Given the description of an element on the screen output the (x, y) to click on. 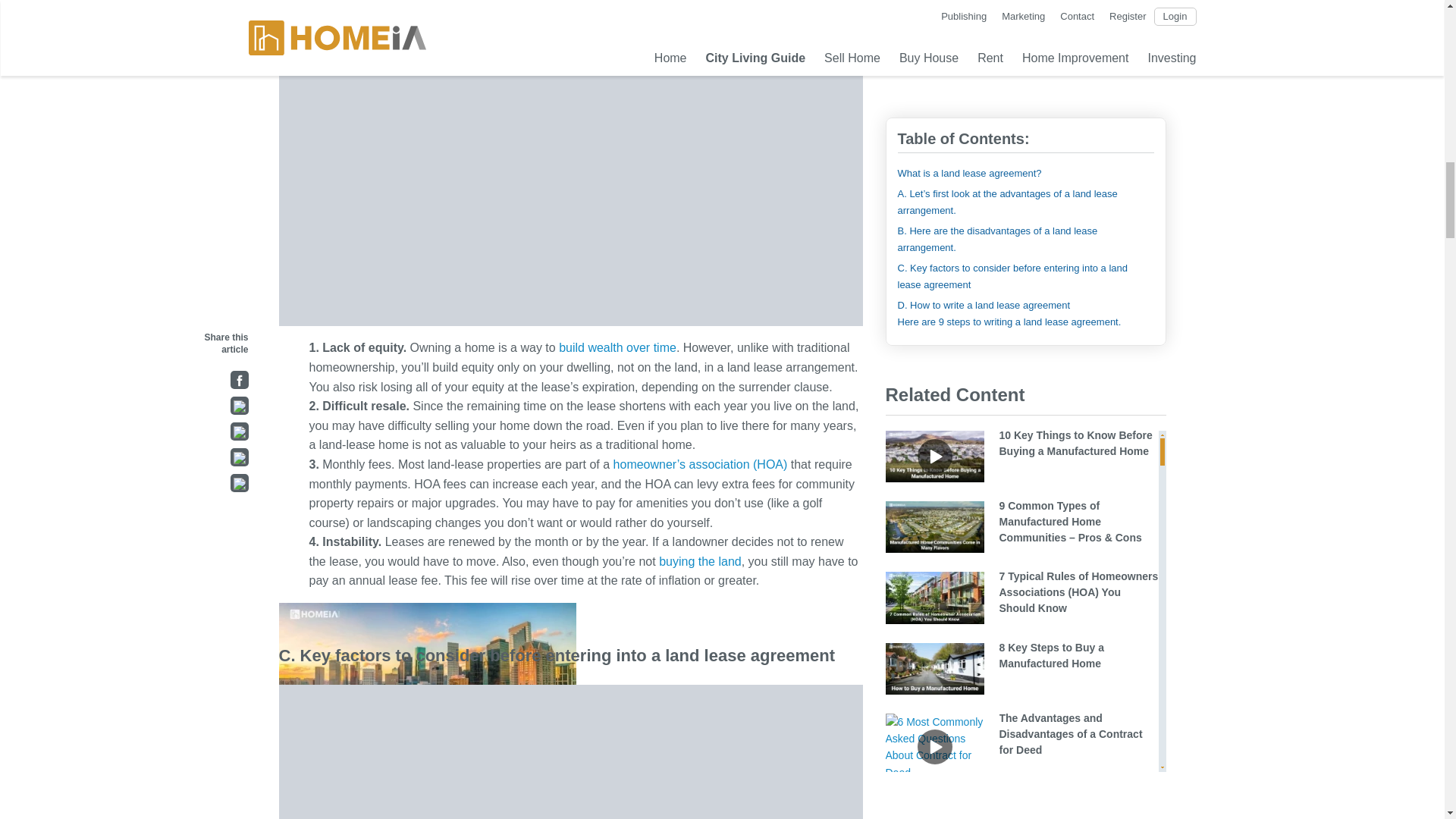
Real Estate Investing (618, 347)
The 10 Cheapest Places to Live in Texas (416, 135)
8 Key Steps to Buy a Mobile Home in Texas (347, 225)
5 Best Places to Live in Texas (654, 204)
Best 5 Biggest Cities to Live in Texas (557, 172)
